Given the description of an element on the screen output the (x, y) to click on. 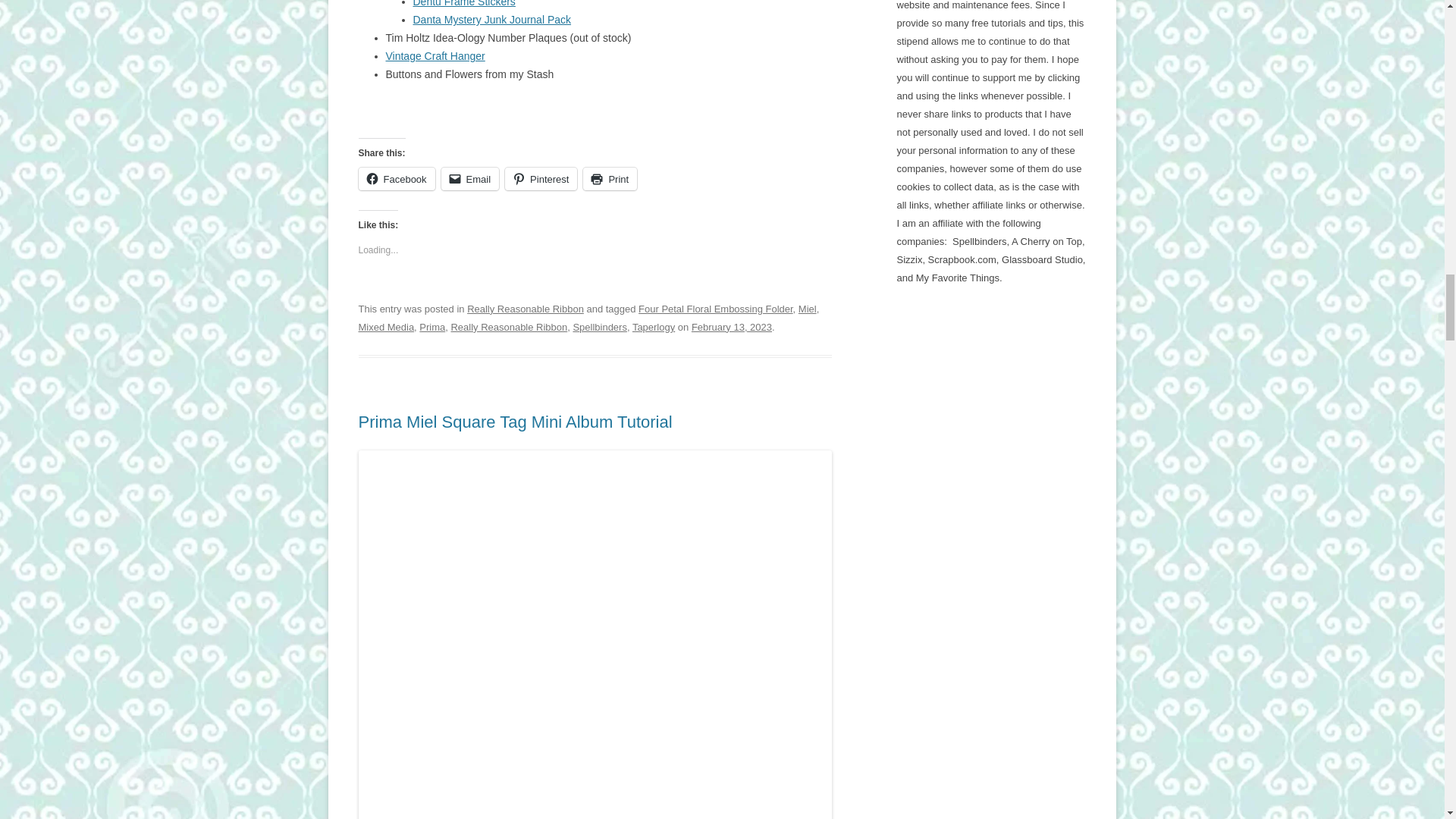
Email (470, 178)
Dentu Frame Stickers (463, 3)
Click to share on Facebook (395, 178)
Spellbinders (599, 326)
Really Reasonable Ribbon (508, 326)
Pinterest (540, 178)
Click to email a link to a friend (470, 178)
Click to share on Pinterest (540, 178)
Print (610, 178)
7:30 AM (731, 326)
Mixed Media (385, 326)
Really Reasonable Ribbon (525, 308)
Danta Mystery Junk Journal Pack (491, 19)
Miel (806, 308)
Vintage Craft Hanger (434, 55)
